Given the description of an element on the screen output the (x, y) to click on. 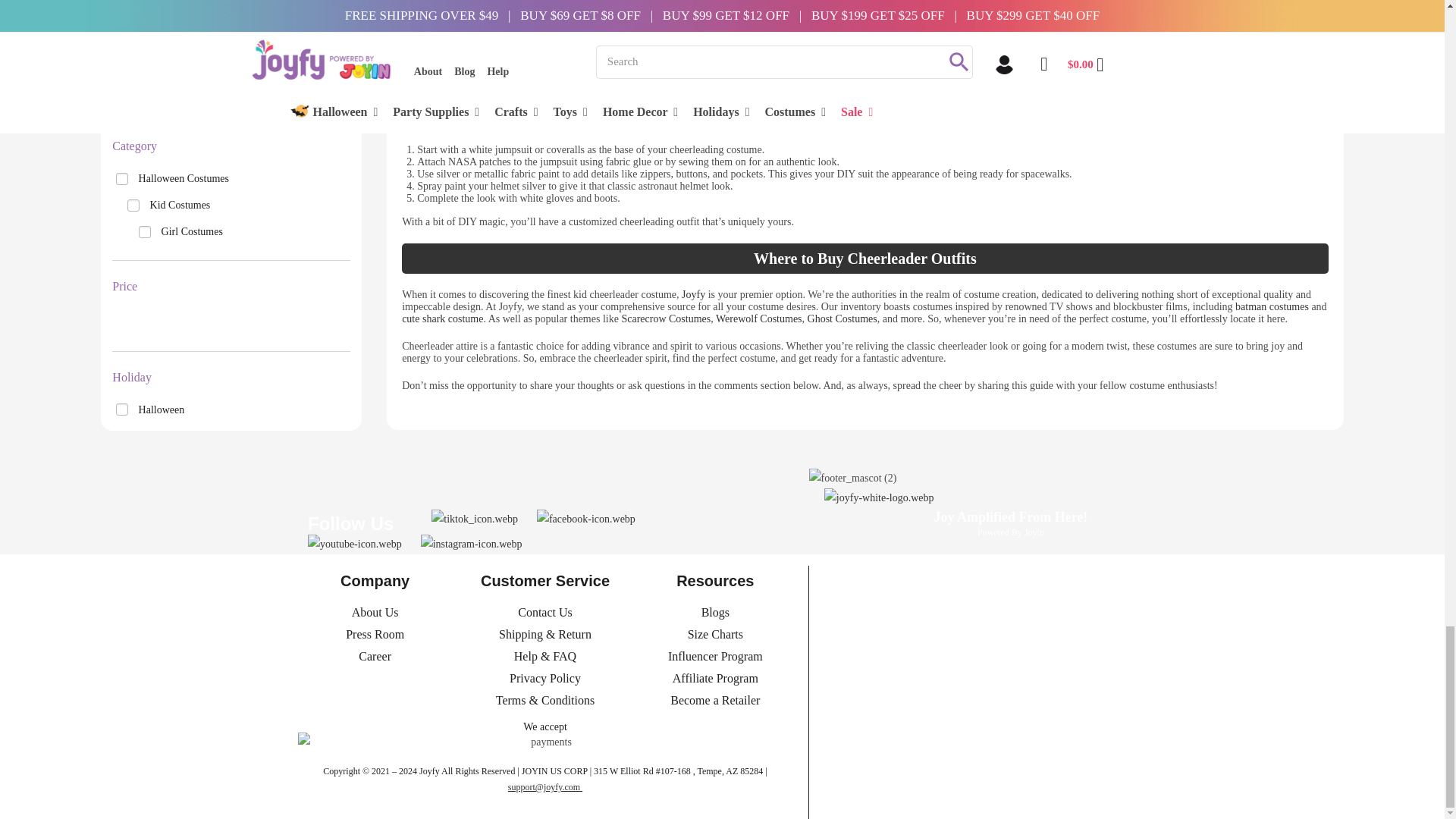
instagram-icon.webp (471, 543)
facebook-icon.webp (585, 518)
youtube-icon.webp (354, 543)
joyfy-white-logo.webp (879, 521)
